Given the description of an element on the screen output the (x, y) to click on. 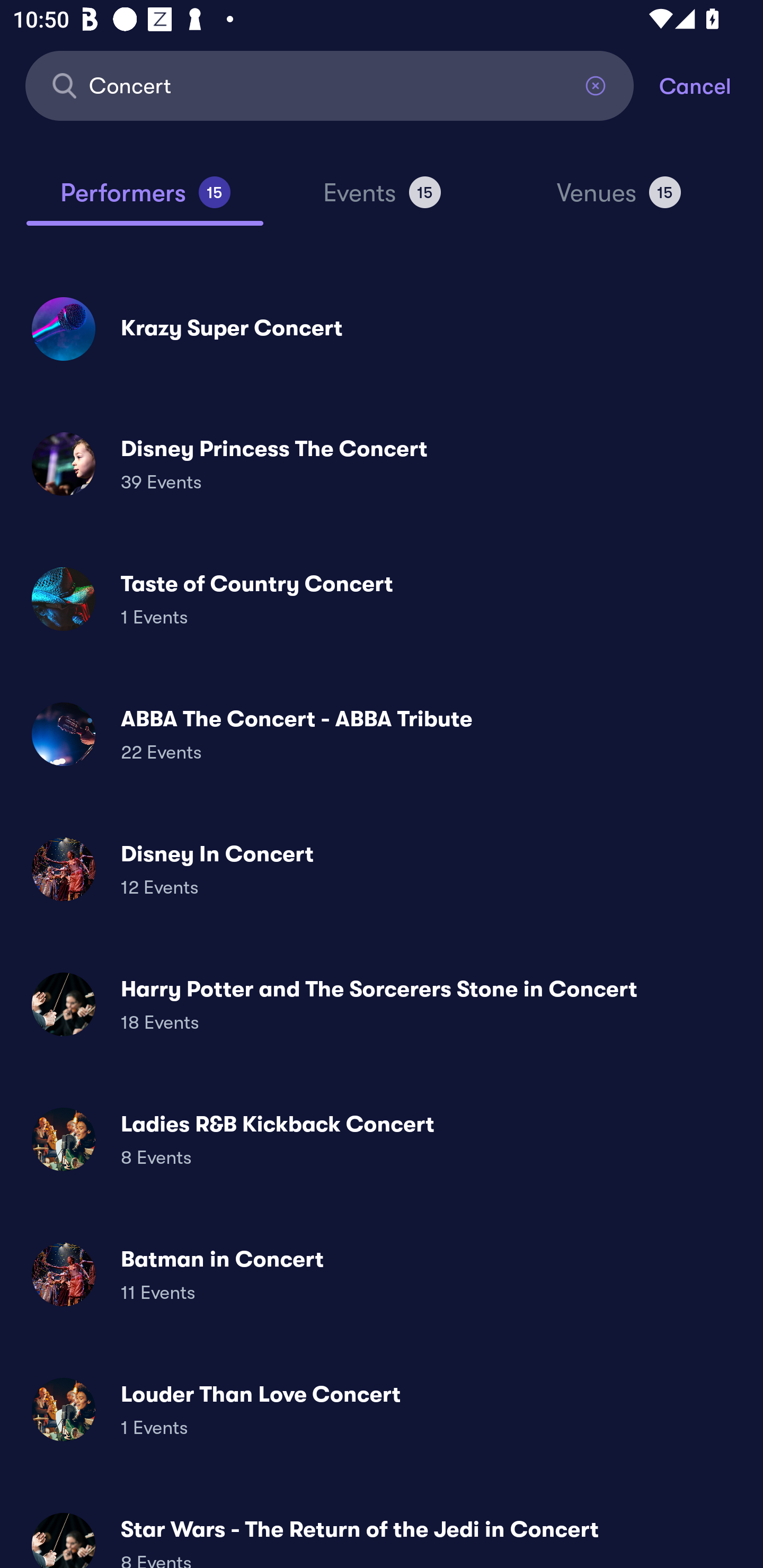
Concert Find (329, 85)
Concert Find (329, 85)
Cancel (711, 85)
Performers 15 (144, 200)
Events 15 (381, 200)
Venues 15 (618, 200)
Krazy Super Concert (381, 328)
Disney Princess The Concert 39 Events (381, 464)
Taste of Country Concert 1 Events (381, 598)
ABBA The Concert - ABBA Tribute 22 Events (381, 734)
Disney In Concert 12 Events (381, 869)
Ladies R&B Kickback Concert 8 Events (381, 1138)
Batman in Concert 11 Events (381, 1273)
Louder Than Love Concert 1 Events (381, 1409)
